Given the description of an element on the screen output the (x, y) to click on. 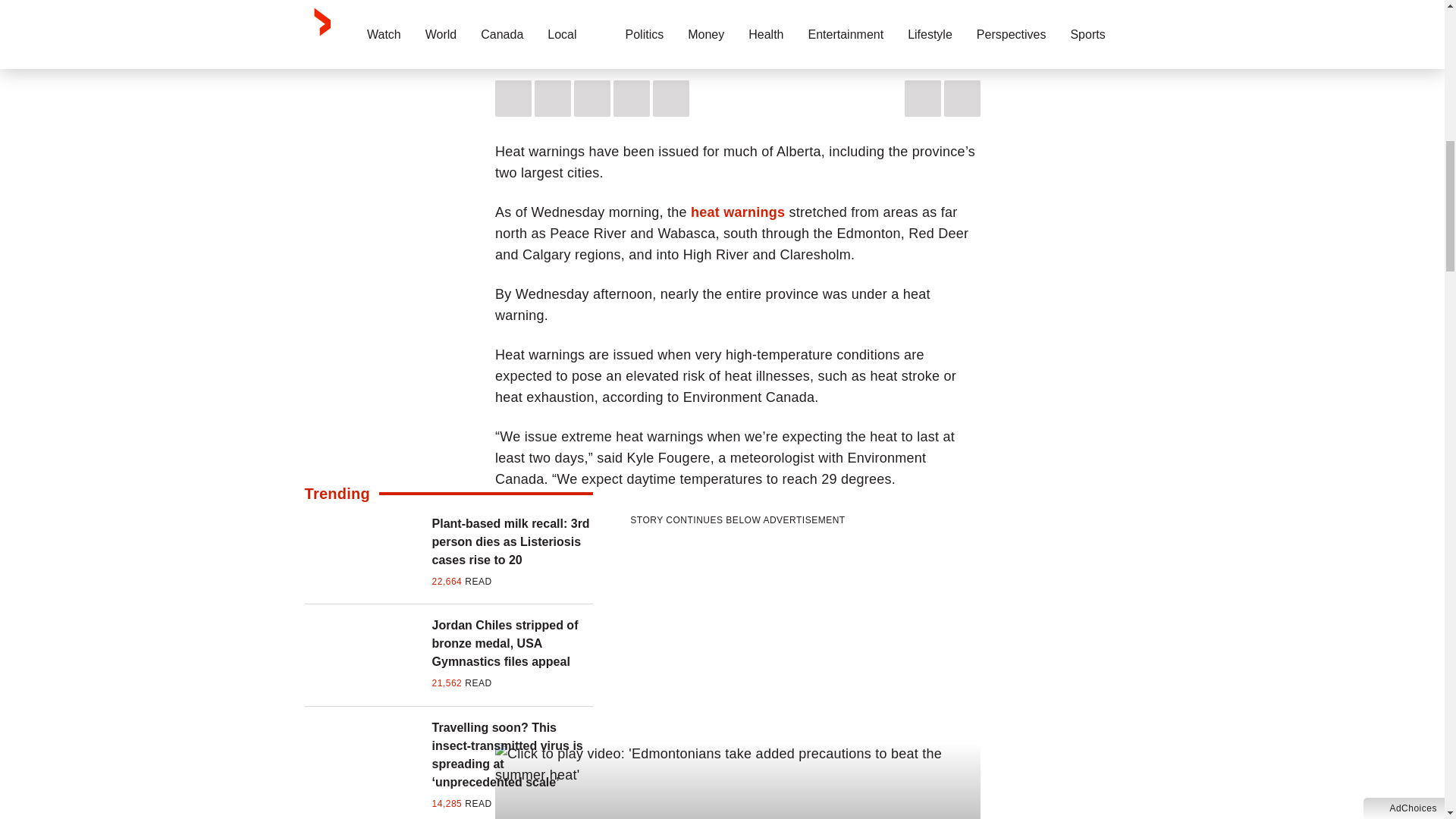
Sticky Video (738, 17)
